Given the description of an element on the screen output the (x, y) to click on. 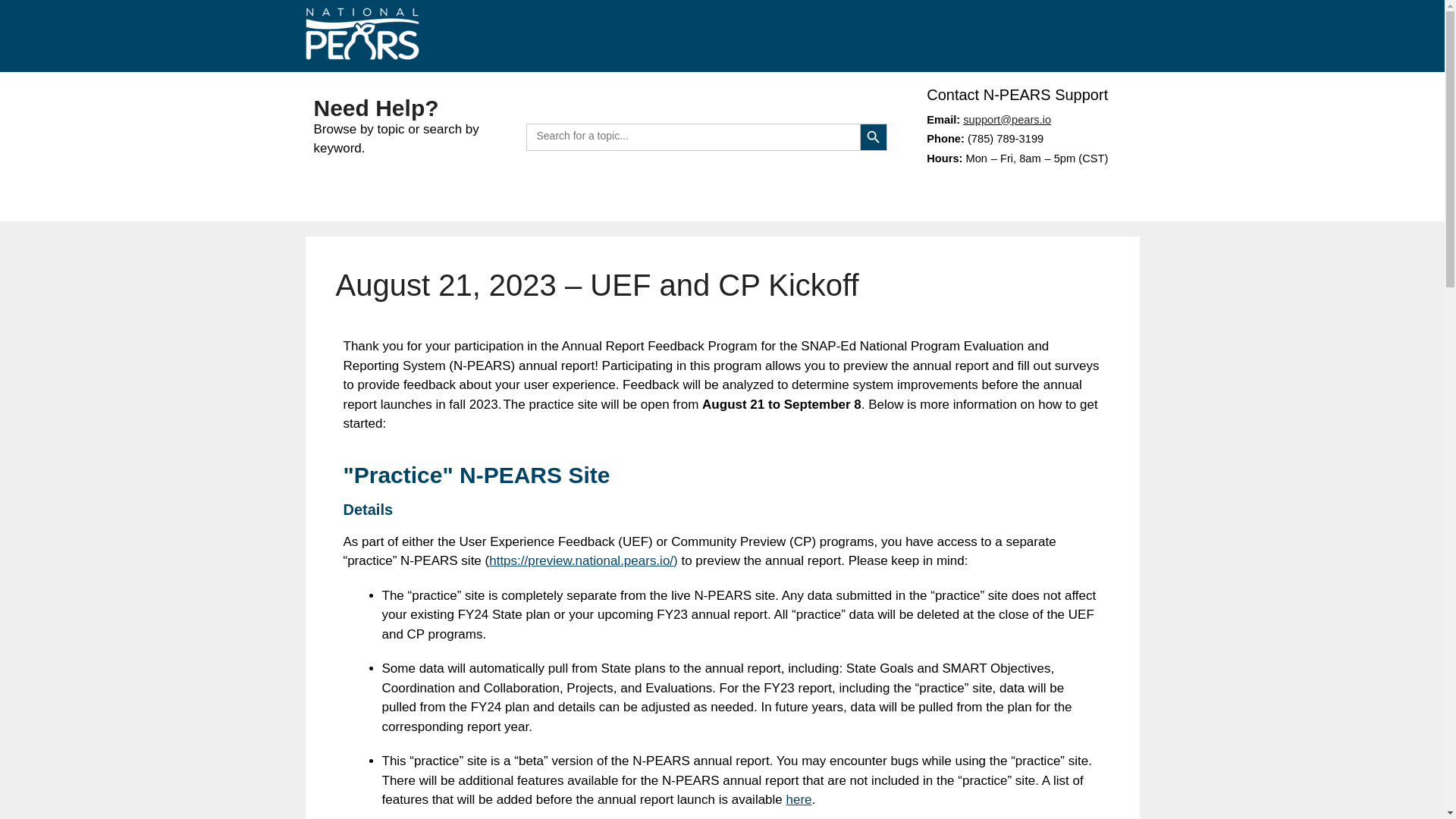
Return to National PEARS (361, 33)
Need Help? (376, 107)
here (799, 799)
Search Button (873, 135)
